Given the description of an element on the screen output the (x, y) to click on. 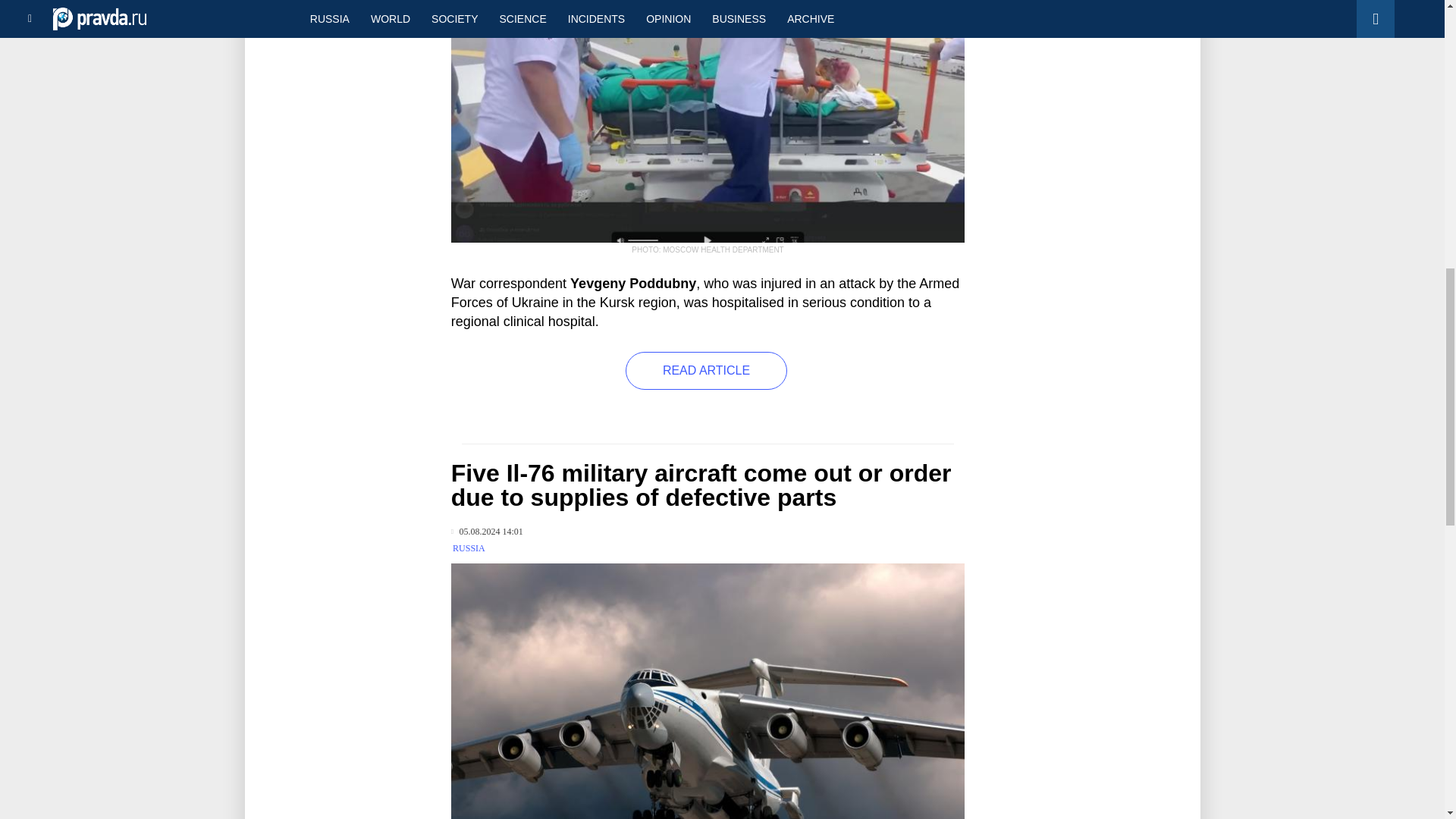
Published (486, 531)
Back to top (1418, 79)
